Given the description of an element on the screen output the (x, y) to click on. 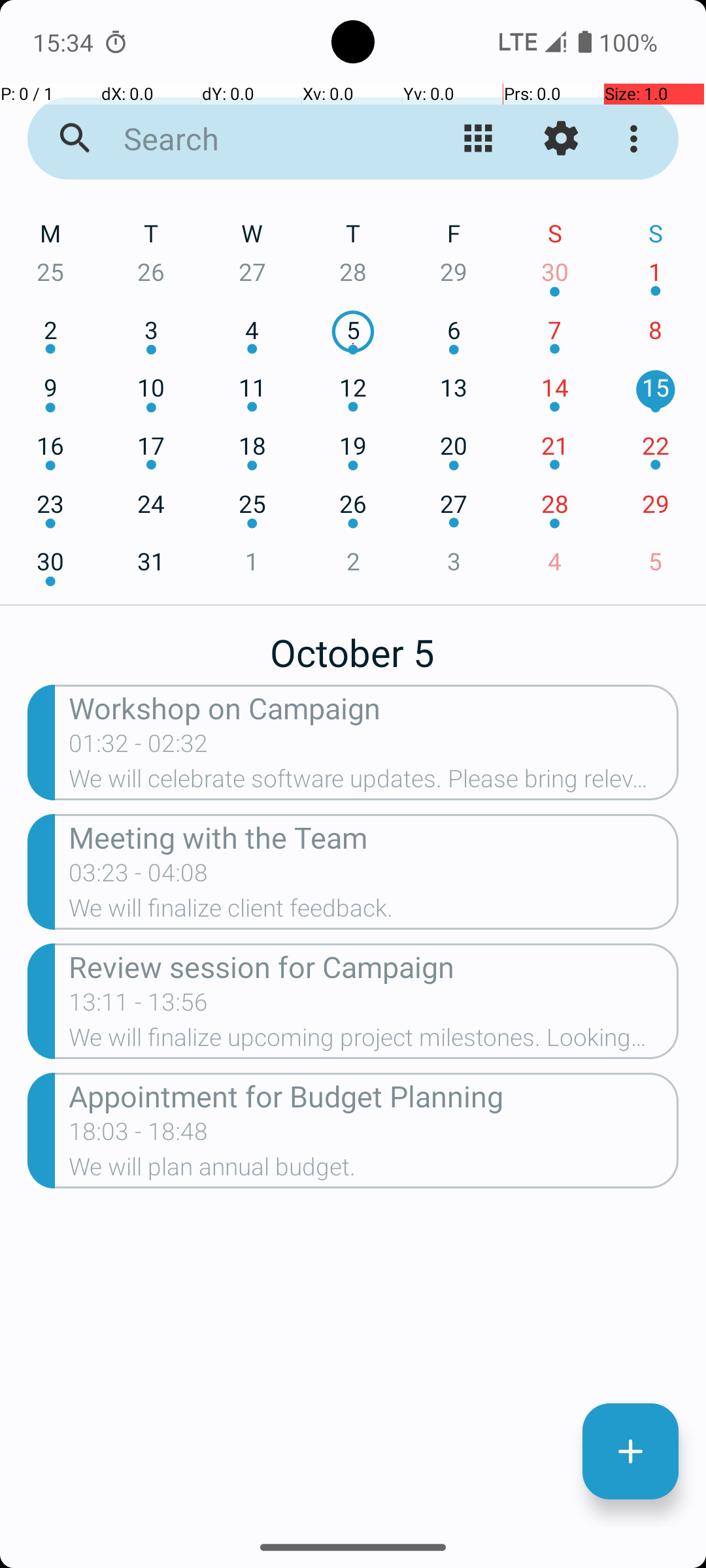
October 5 Element type: android.widget.TextView (352, 644)
01:32 - 02:32 Element type: android.widget.TextView (212, 747)
We will celebrate software updates. Please bring relevant documents. Element type: android.widget.TextView (373, 782)
03:23 - 04:08 Element type: android.widget.TextView (137, 876)
We will finalize client feedback. Element type: android.widget.TextView (373, 911)
13:11 - 13:56 Element type: android.widget.TextView (137, 1005)
We will finalize upcoming project milestones. Looking forward to productive discussions. Element type: android.widget.TextView (373, 1041)
18:03 - 18:48 Element type: android.widget.TextView (137, 1135)
We will plan annual budget. Element type: android.widget.TextView (373, 1170)
